Given the description of an element on the screen output the (x, y) to click on. 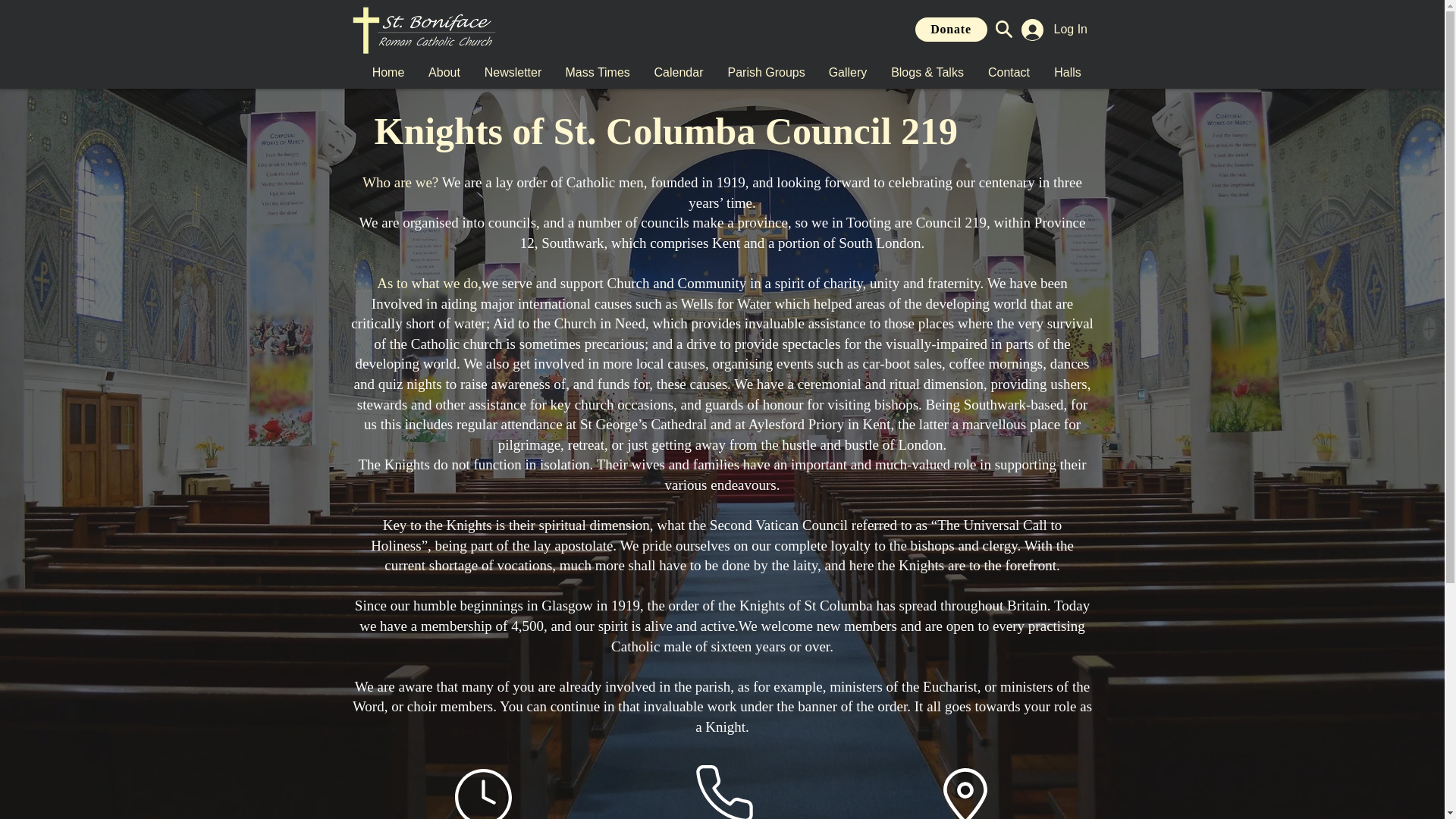
Contact (1008, 72)
Log In (1051, 29)
Calendar (679, 72)
Gallery (846, 72)
About (442, 72)
Halls (1067, 72)
Donate (950, 29)
Newsletter (512, 72)
Mass Times (597, 72)
Home (386, 72)
